Given the description of an element on the screen output the (x, y) to click on. 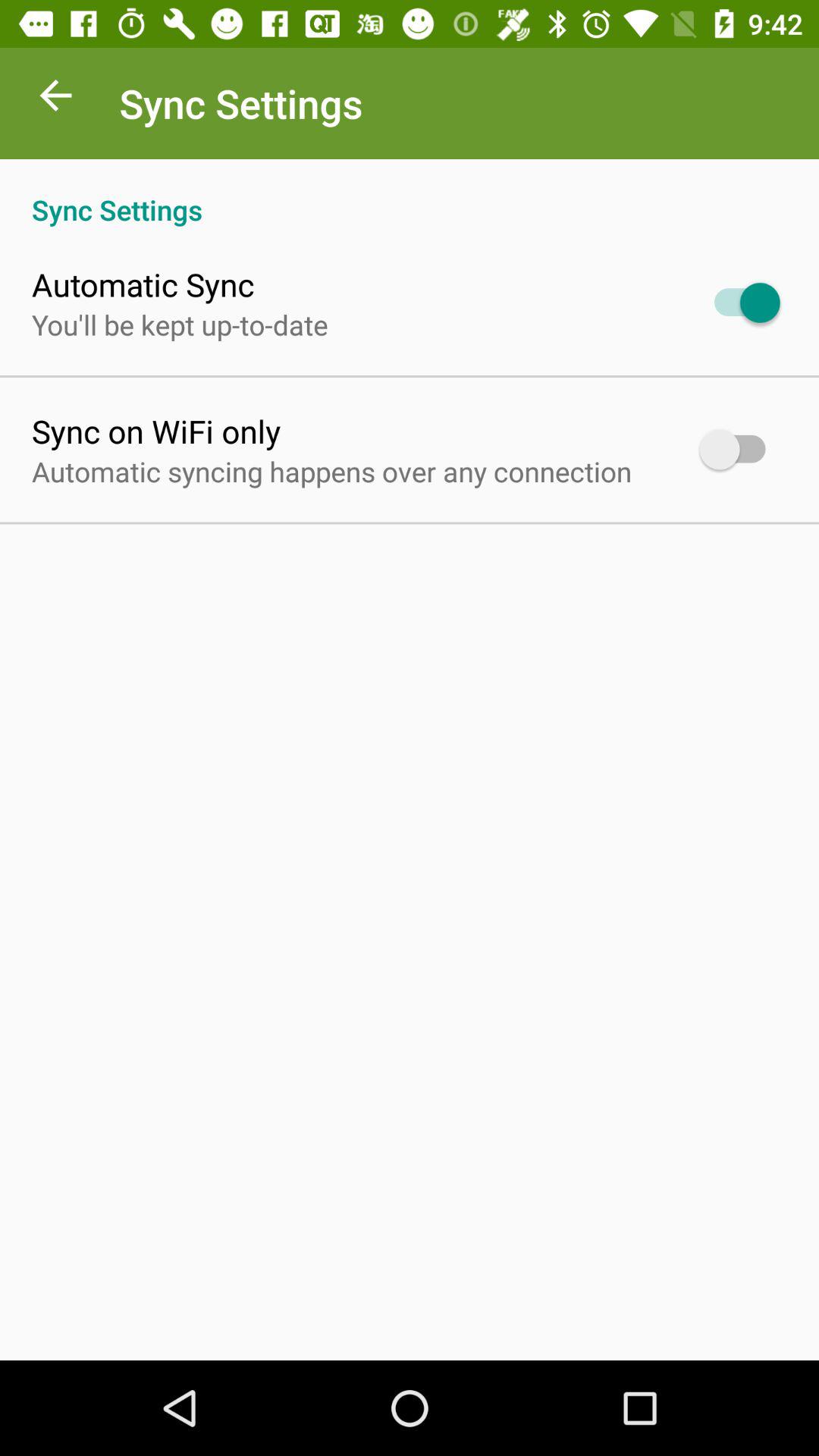
turn on icon above the sync on wifi item (179, 324)
